Given the description of an element on the screen output the (x, y) to click on. 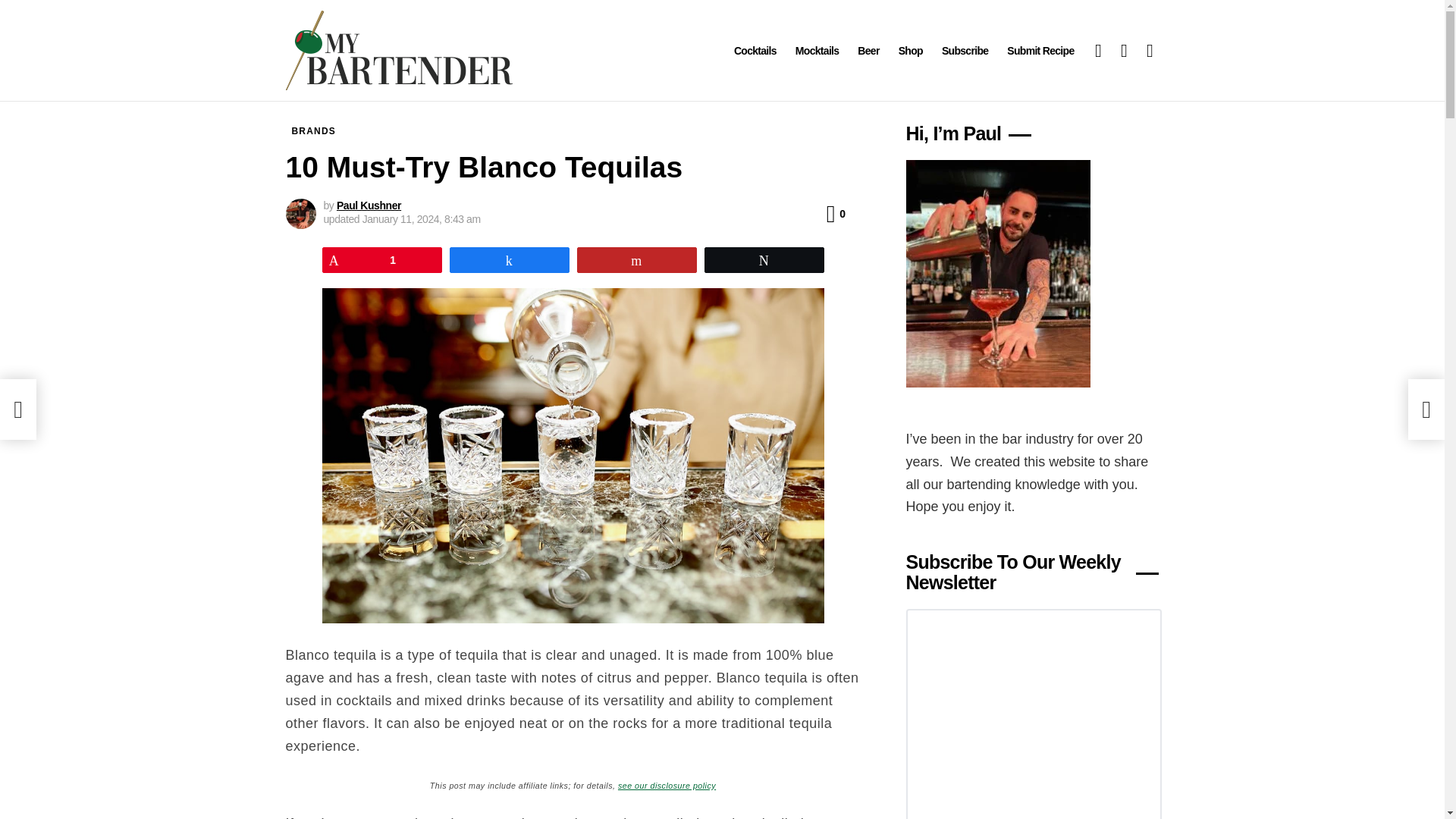
1 (382, 259)
Beer (868, 50)
Submit Recipe (1039, 50)
Paul Kushner (368, 205)
Cocktails (755, 50)
Posts by Paul Kushner (368, 205)
Subscribe (964, 50)
BRANDS (313, 130)
see our disclosure policy (666, 783)
Shop (910, 50)
